Given the description of an element on the screen output the (x, y) to click on. 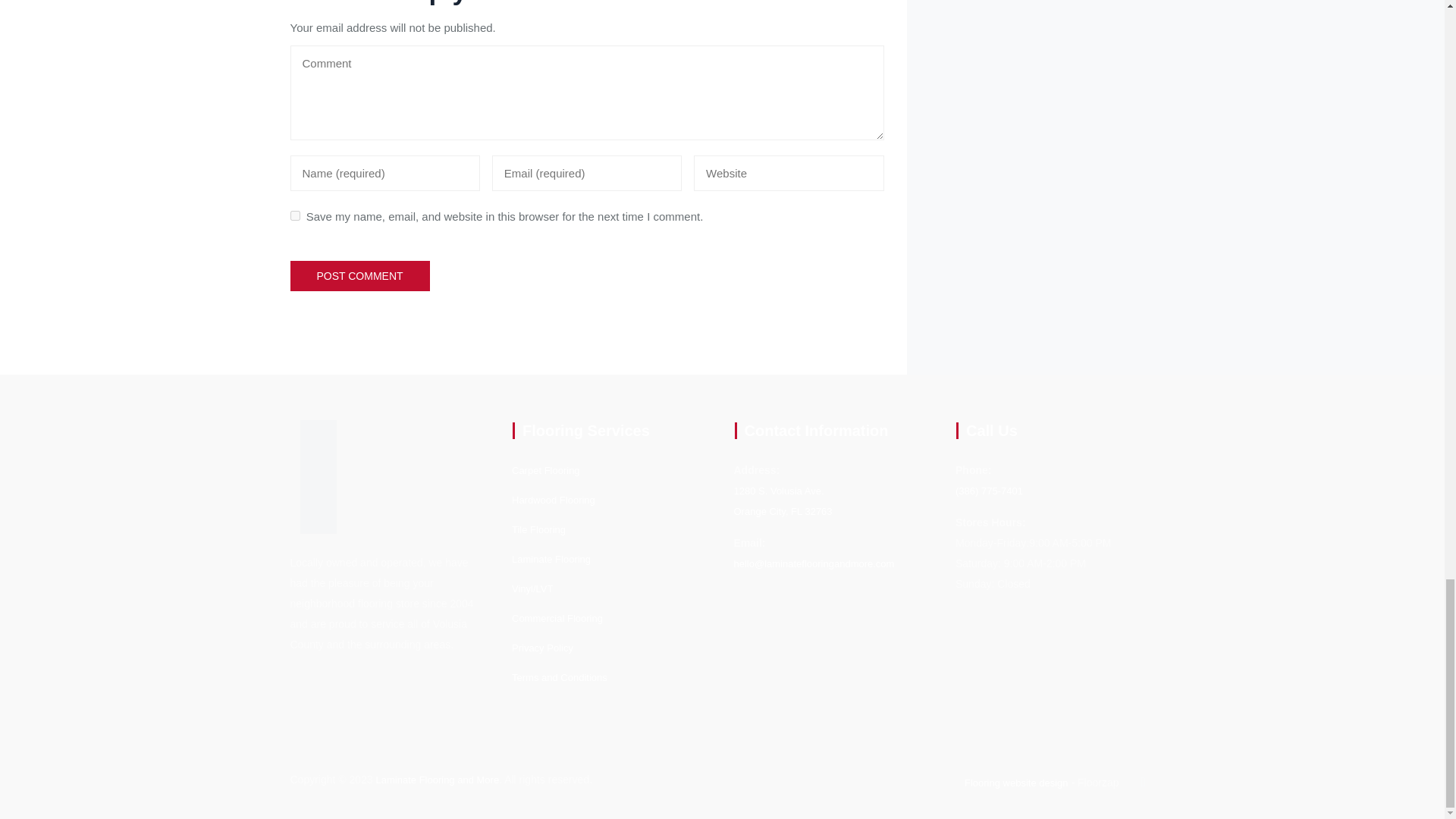
yes (294, 214)
Post Comment (359, 275)
Tile Flooring (539, 529)
Hardwood Flooring (553, 498)
Post Comment (359, 275)
Carpet Flooring (545, 470)
